Given the description of an element on the screen output the (x, y) to click on. 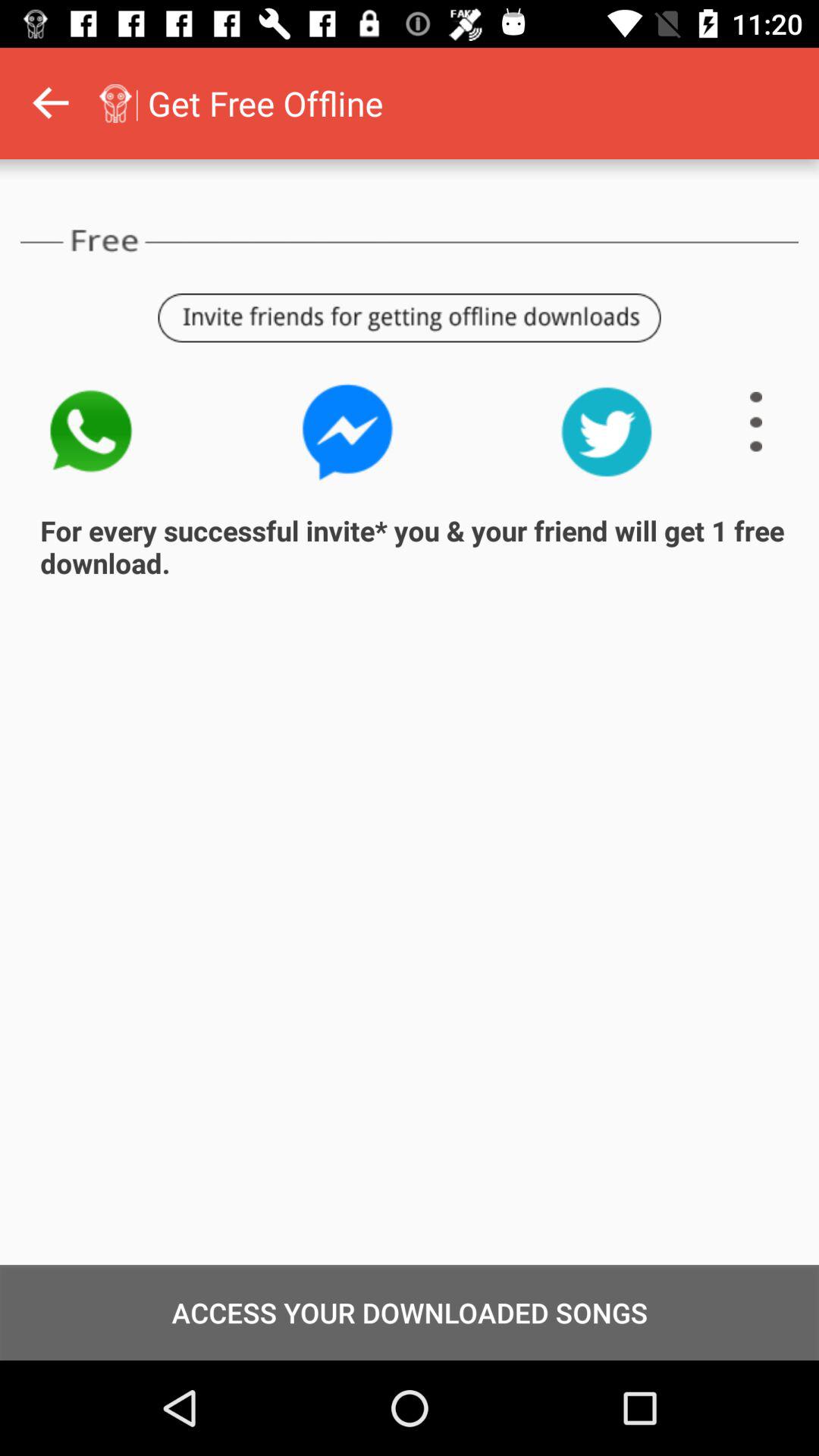
click on messenger (348, 431)
